Given the description of an element on the screen output the (x, y) to click on. 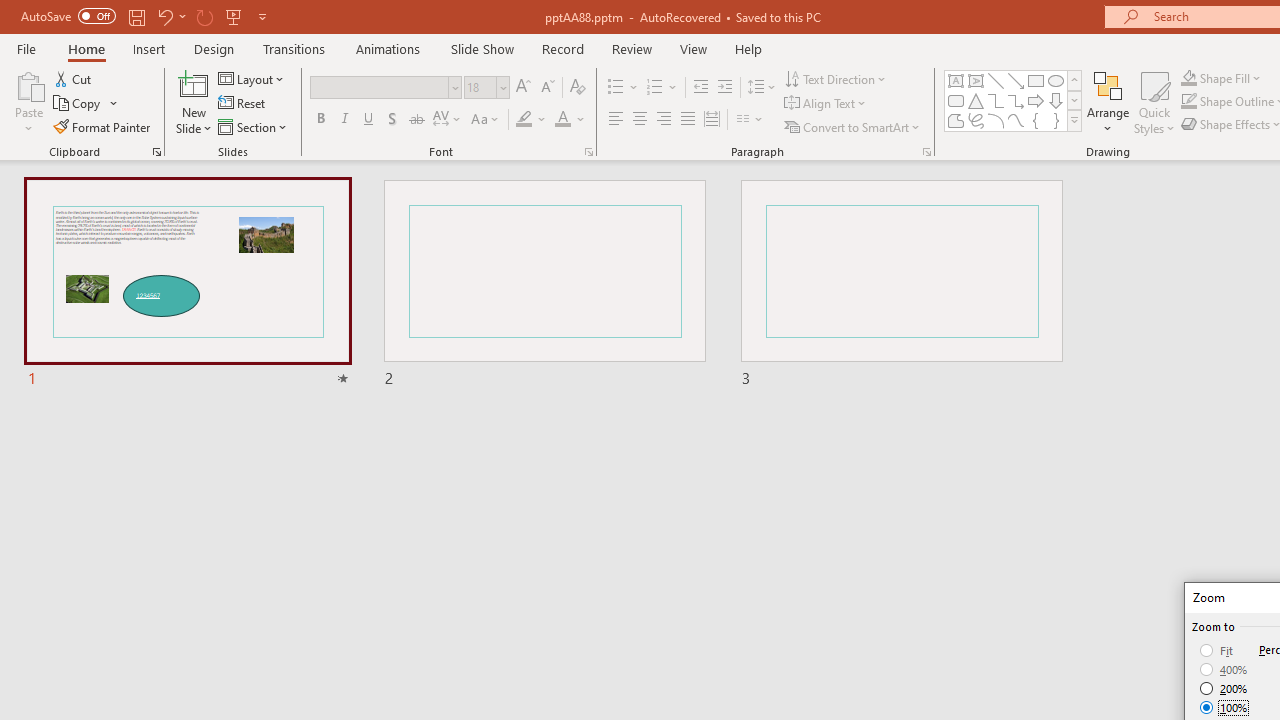
100% (1224, 707)
Shape Fill Aqua, Accent 2 (1188, 78)
